Given the description of an element on the screen output the (x, y) to click on. 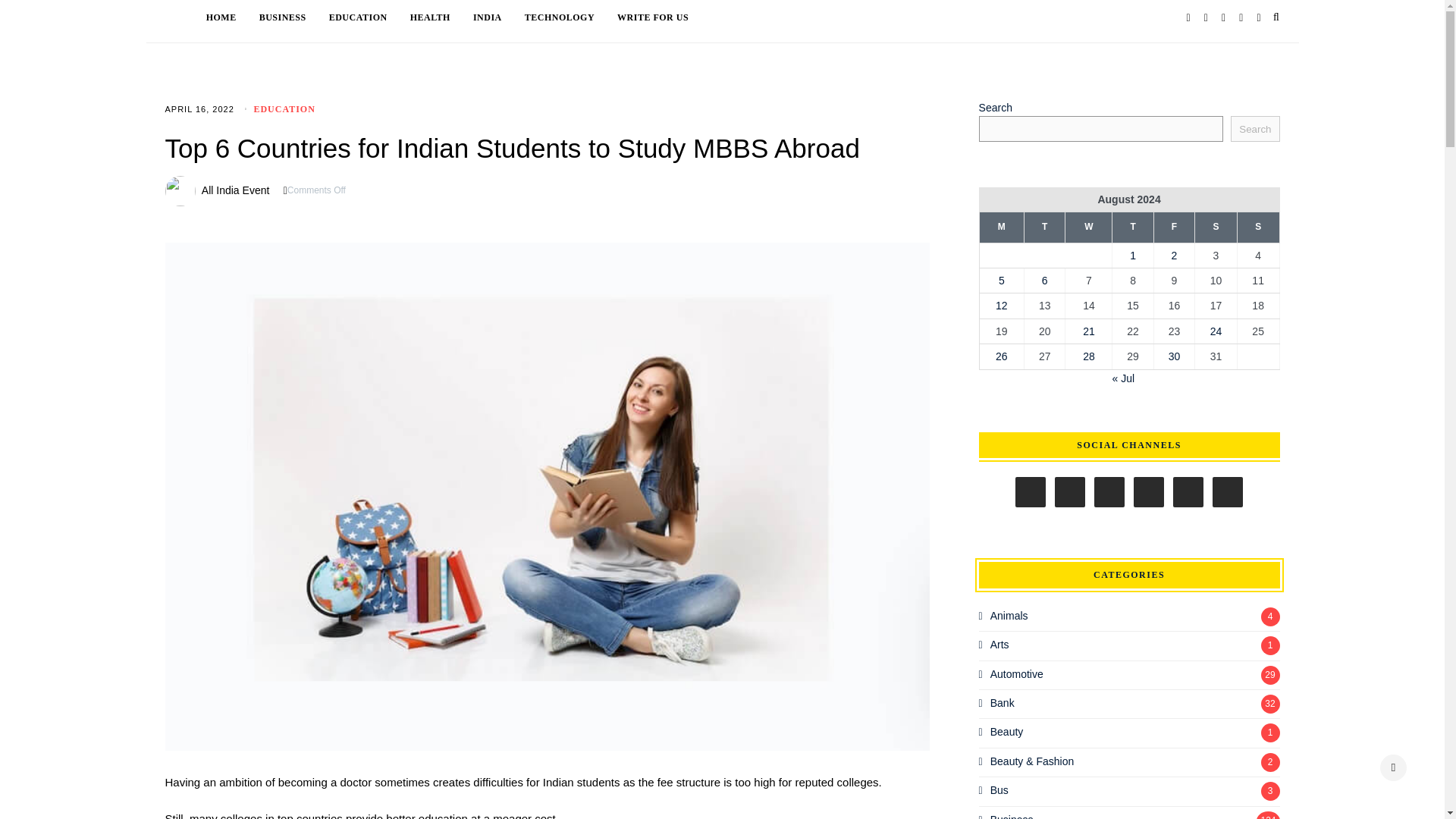
WRITE FOR US (652, 17)
APRIL 16, 2022 (199, 108)
BUSINESS (294, 17)
Monday (1000, 227)
EDUCATION (283, 109)
Posts by All India Event (235, 190)
HOME (232, 17)
All India Event (235, 190)
HEALTH (441, 17)
